Given the description of an element on the screen output the (x, y) to click on. 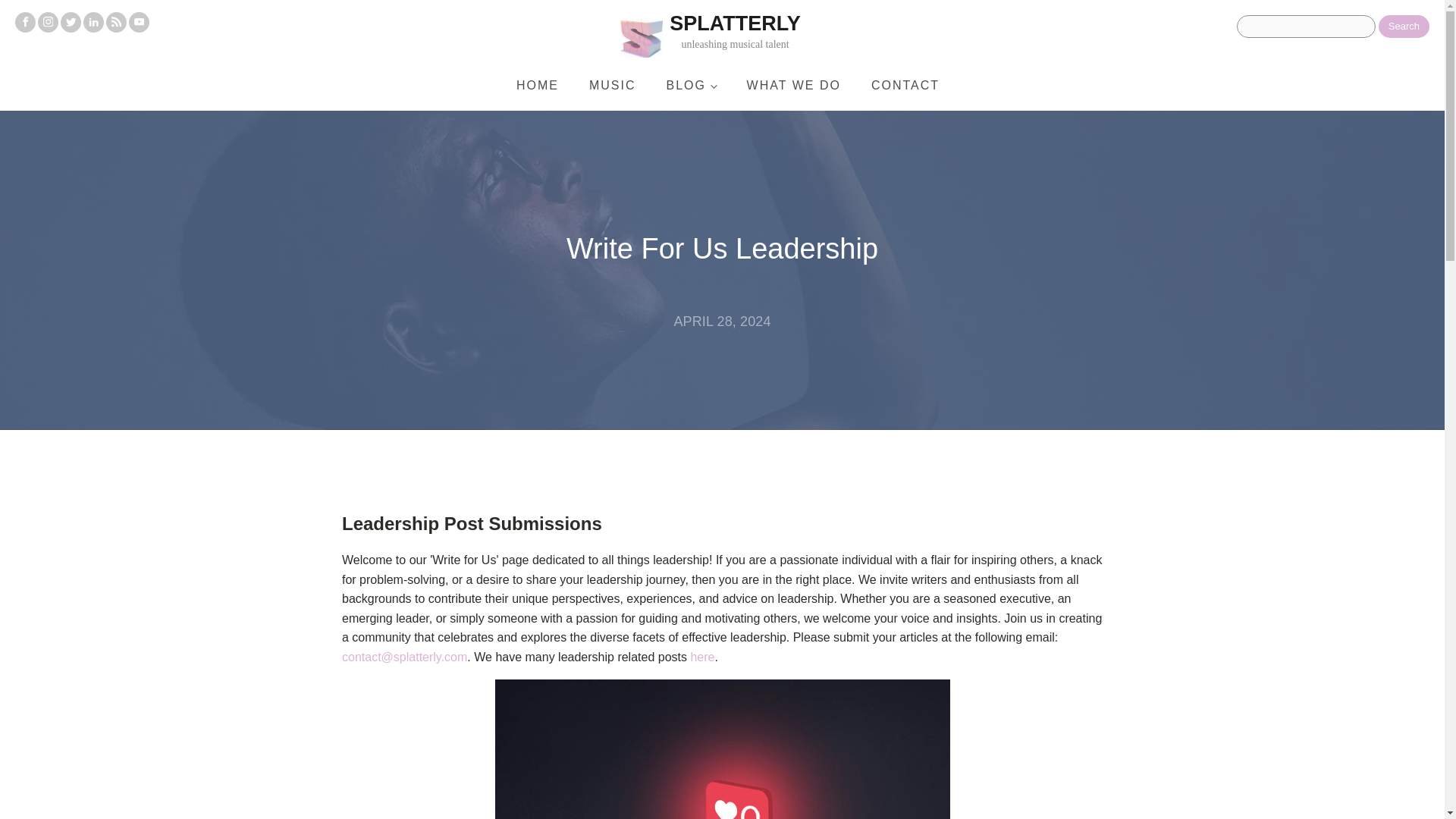
Search (1403, 26)
MUSIC (611, 85)
here (702, 656)
HOME (536, 85)
BLOG (691, 85)
WHAT WE DO (794, 85)
CONTACT (905, 85)
Search (1403, 26)
